Given the description of an element on the screen output the (x, y) to click on. 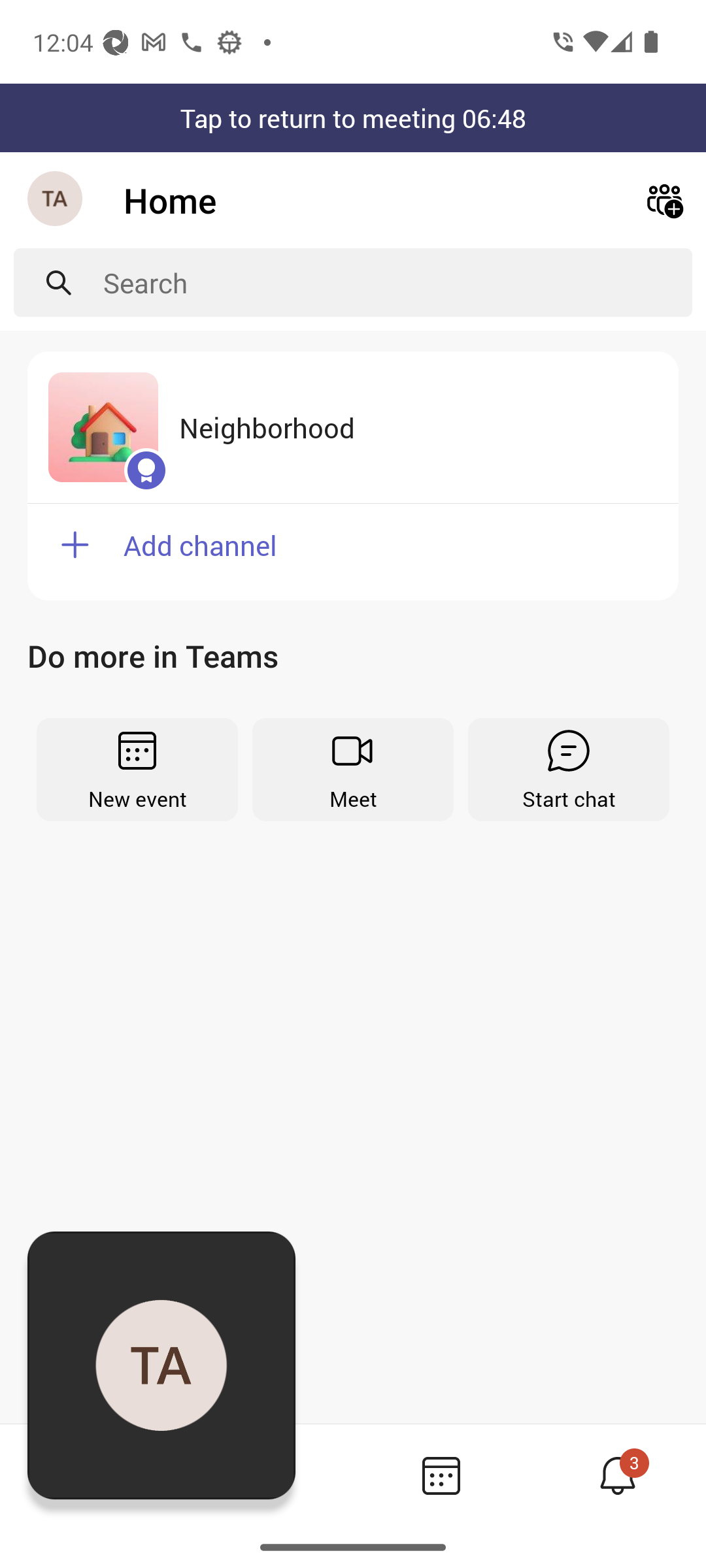
Tap to return to meeting 06:48 (353, 117)
Create new community (664, 199)
Navigation (56, 199)
Search (397, 281)
Neighborhood Community. Neighborhood (352, 427)
New event (136, 769)
Meet (352, 769)
Start chat (568, 769)
Calendar tab,3 of 4, not selected (441, 1475)
Activity tab,4 of 4, not selected, 3 new 3 (617, 1475)
